Given the description of an element on the screen output the (x, y) to click on. 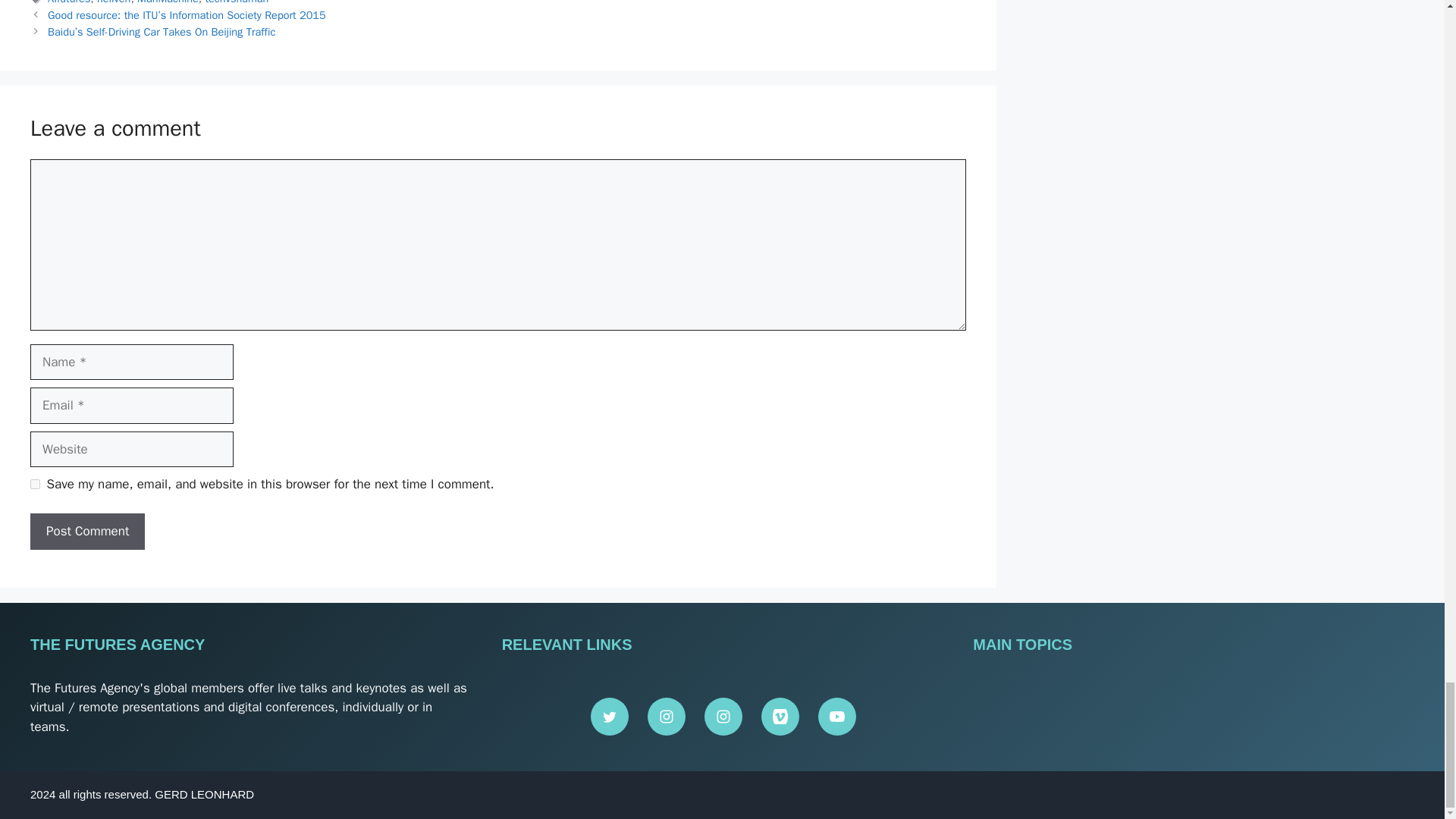
Post Comment (87, 531)
yes (35, 483)
